Given the description of an element on the screen output the (x, y) to click on. 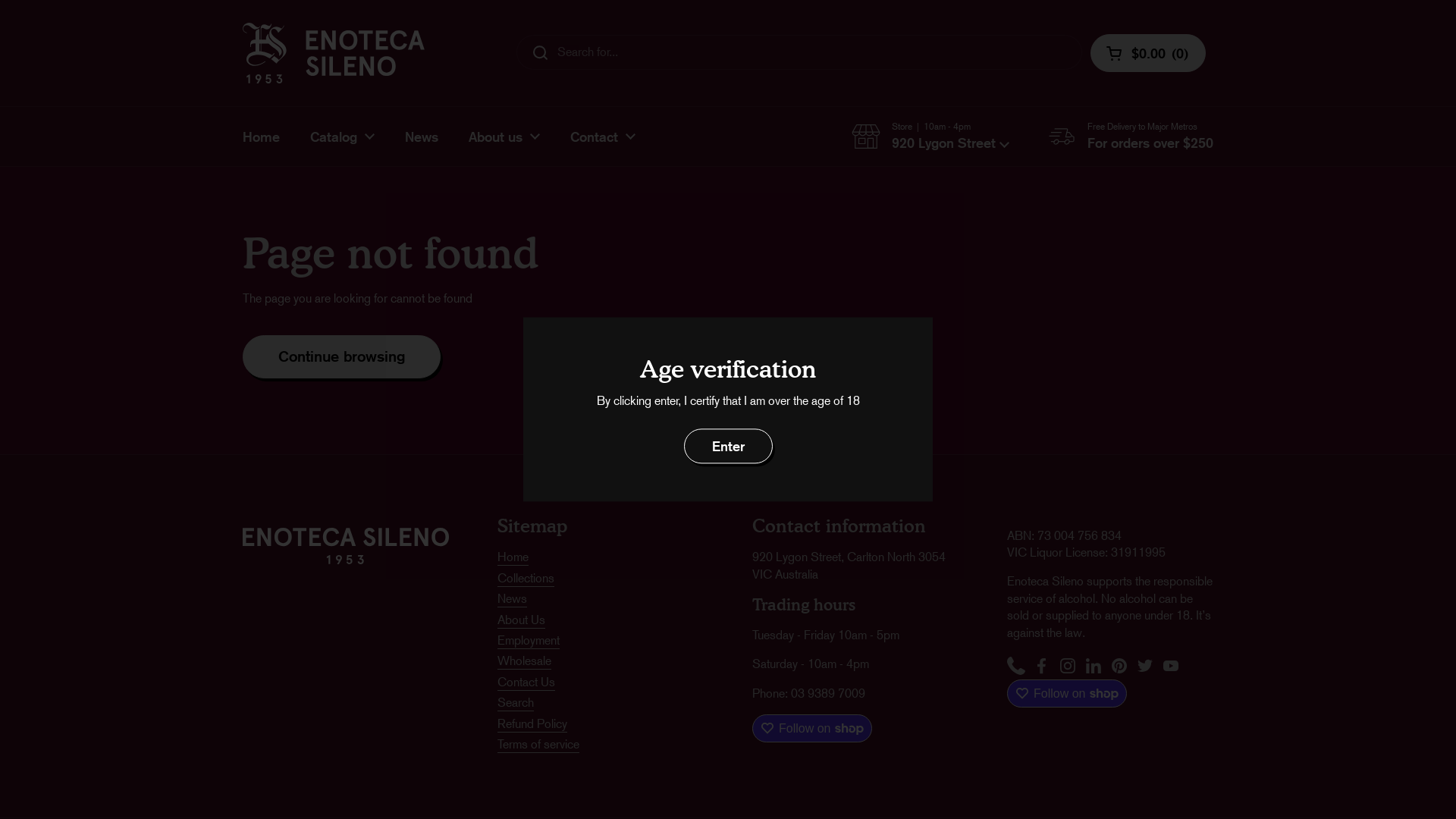
Continue browsing Element type: text (341, 356)
Phone Element type: text (1016, 666)
About Us Element type: text (521, 620)
Twitter Element type: text (1144, 666)
Contact Us Element type: text (526, 682)
Employment Element type: text (528, 641)
Skip to content Element type: text (0, 0)
Search Element type: text (515, 703)
Catalog Element type: text (341, 136)
Refund Policy Element type: text (532, 723)
News Element type: text (512, 599)
Home Element type: text (260, 136)
About us Element type: text (504, 136)
Contact Element type: text (602, 136)
Open cart
$0.00
0 Element type: text (1147, 53)
YouTube Element type: text (1170, 666)
LinkedIn Element type: text (1093, 666)
Pinterest Element type: text (1119, 666)
News Element type: text (421, 136)
Facebook Element type: text (1041, 666)
Terms of service Element type: text (538, 745)
Wholesale Element type: text (524, 661)
Enoteca Sileno Element type: hover (333, 52)
Collections Element type: text (525, 578)
Instagram Element type: text (1067, 666)
Enter Element type: text (728, 446)
Home Element type: text (512, 557)
